Given the description of an element on the screen output the (x, y) to click on. 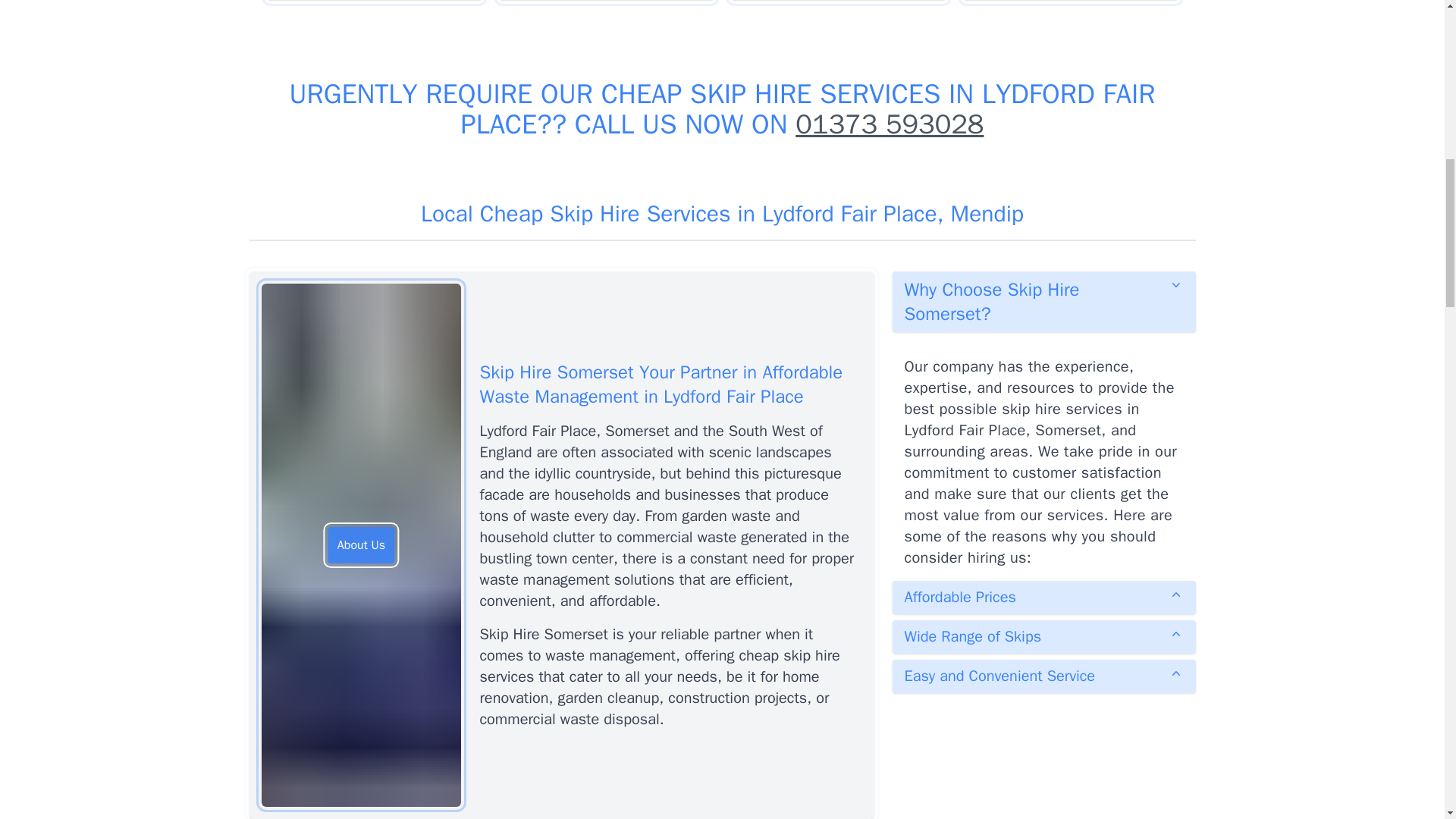
Why Choose Skip Hire Somerset? (1043, 301)
Wide Range of Skips (1043, 636)
01373 593028 (889, 124)
About Us (361, 545)
Easy and Convenient Service (1043, 676)
Affordable Prices (1043, 597)
